Given the description of an element on the screen output the (x, y) to click on. 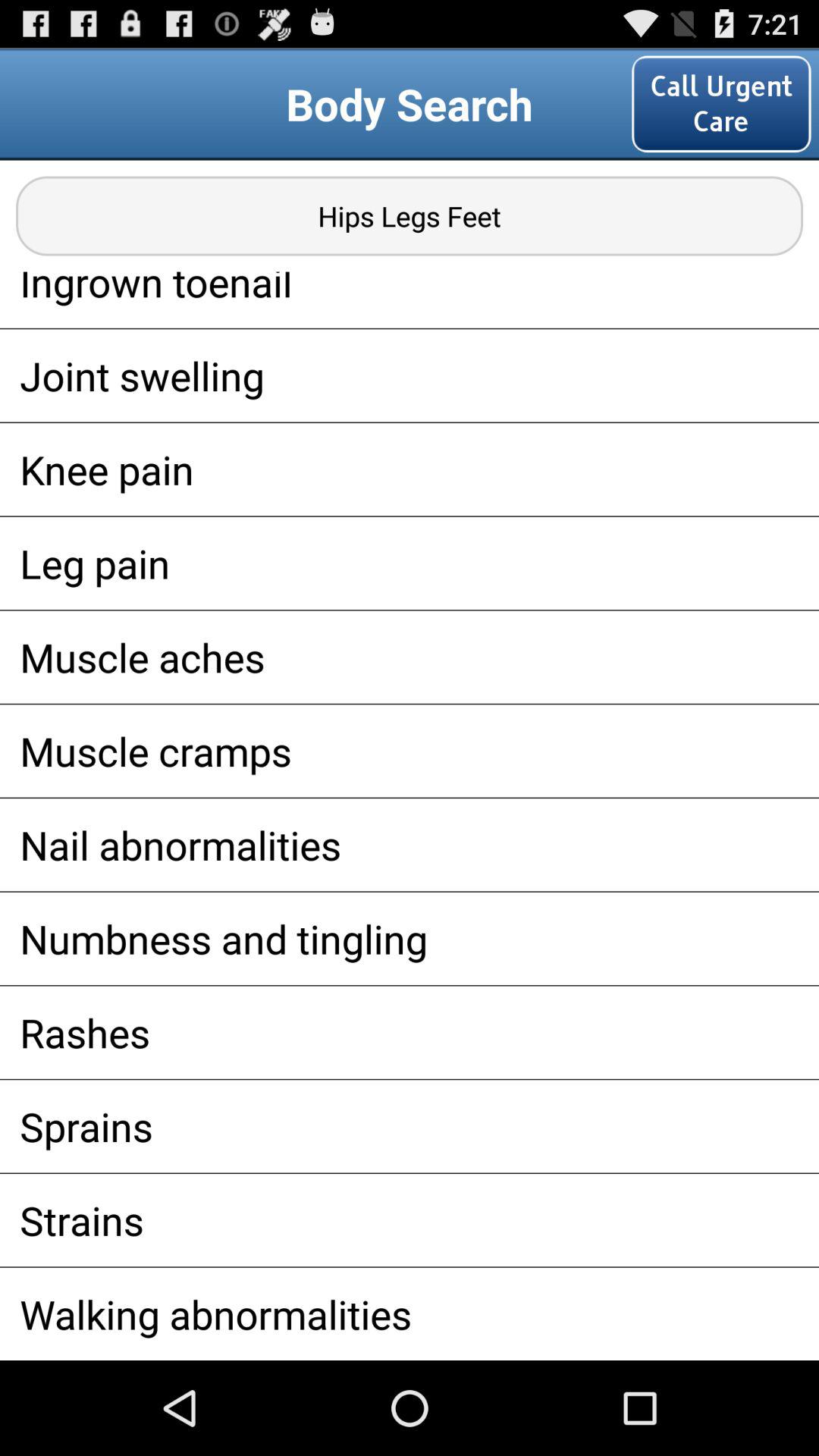
tap the rashes icon (409, 1032)
